Given the description of an element on the screen output the (x, y) to click on. 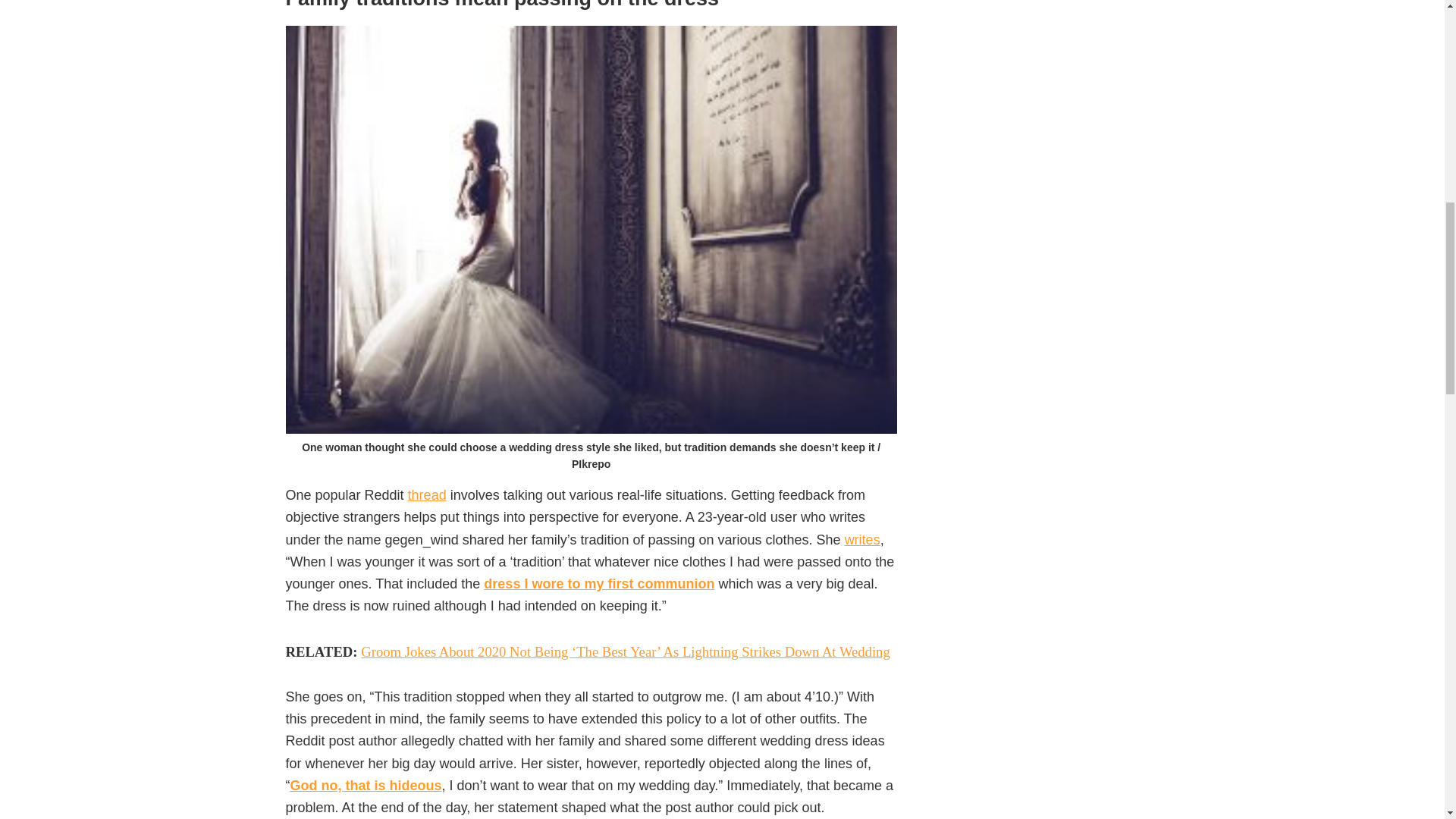
God no, that is hideous (365, 785)
thread (426, 494)
writes (862, 539)
dress I wore to my first communion (598, 583)
